Given the description of an element on the screen output the (x, y) to click on. 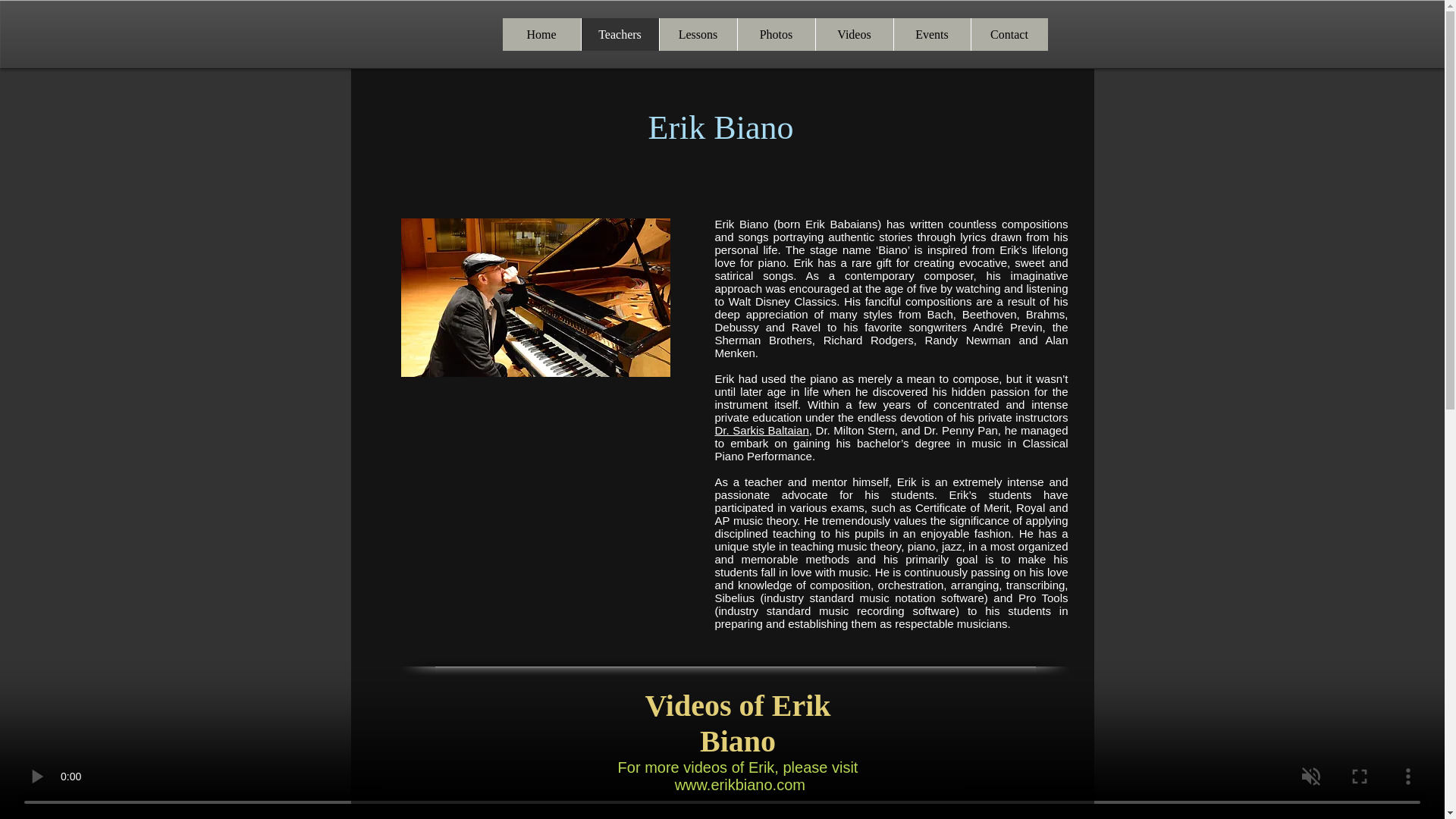
Videos (852, 34)
Dr. Sarkis Baltaian (761, 430)
Events (932, 34)
Teachers (619, 34)
Lessons (697, 34)
Contact (1009, 34)
www.erikbiano.com (740, 784)
Home (540, 34)
Photos (775, 34)
